Given the description of an element on the screen output the (x, y) to click on. 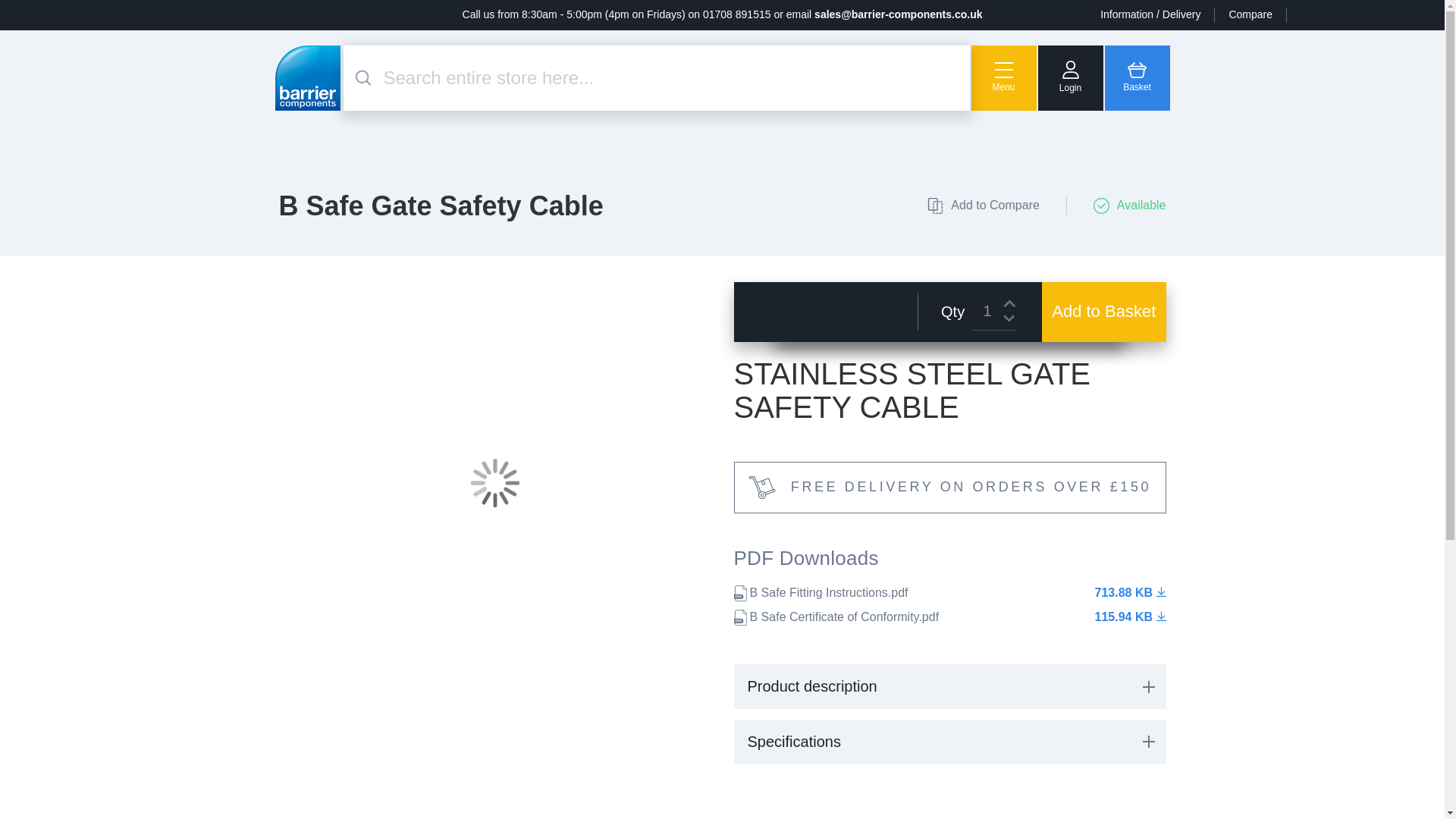
Login (1069, 77)
Compare (1250, 14)
1 (993, 311)
Basket (1136, 77)
Qty (993, 311)
Add to Basket (1104, 311)
Availability (1115, 205)
Compare Products (1250, 14)
